Given the description of an element on the screen output the (x, y) to click on. 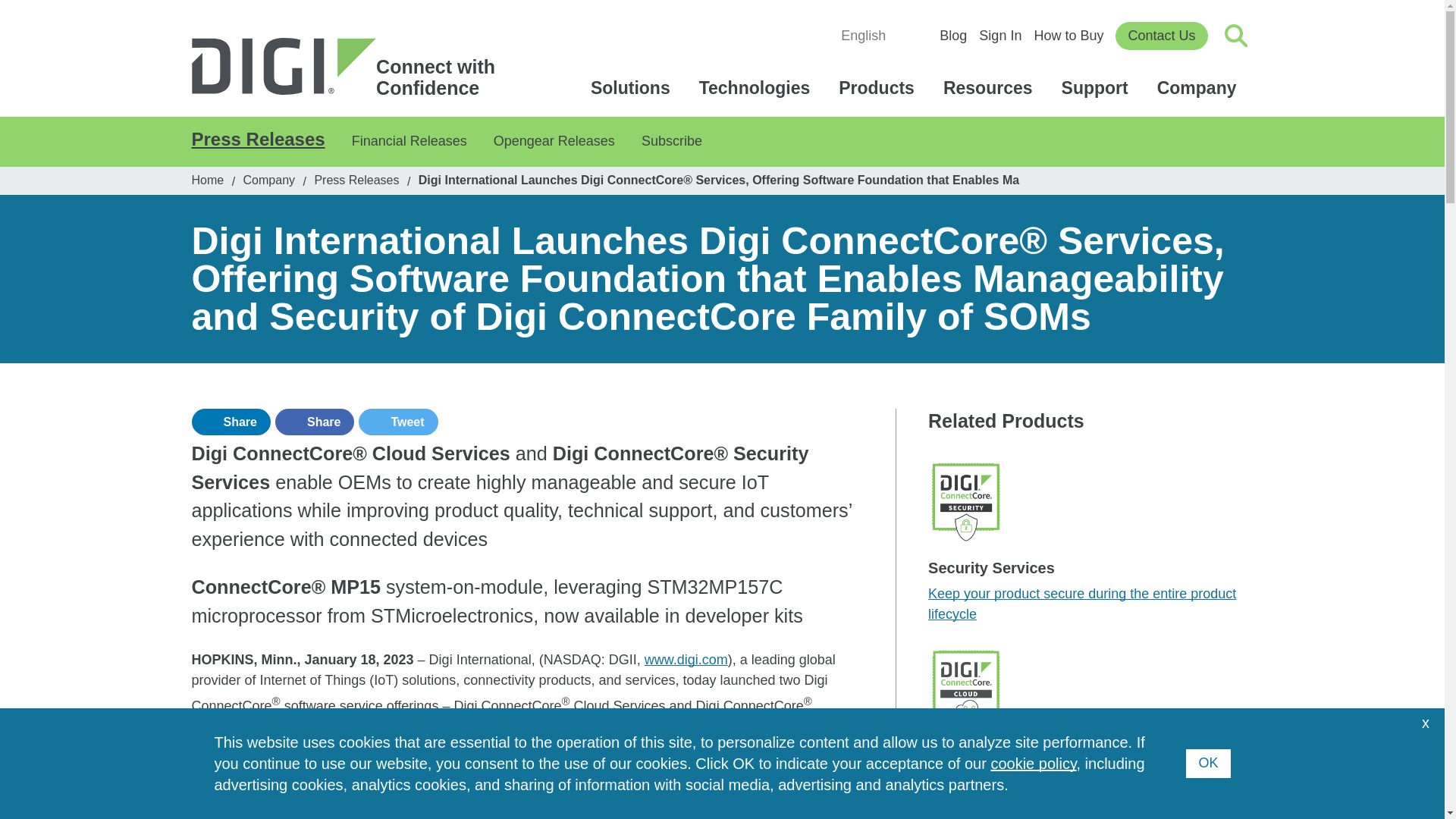
Switch Language (870, 36)
Blog (952, 35)
Contact Us (1161, 36)
How to Buy (1068, 35)
Click to toggle support menu (1198, 87)
Tweet on Twitter (398, 421)
Click to toggle techologies menu (757, 87)
Solutions (632, 87)
Click to toggle Search (1236, 35)
Sign In (1000, 35)
Home (349, 67)
Technologies (757, 87)
Share on Facebook (314, 421)
Click to toggle support menu (1096, 87)
Share on LinkedIn (229, 421)
